Given the description of an element on the screen output the (x, y) to click on. 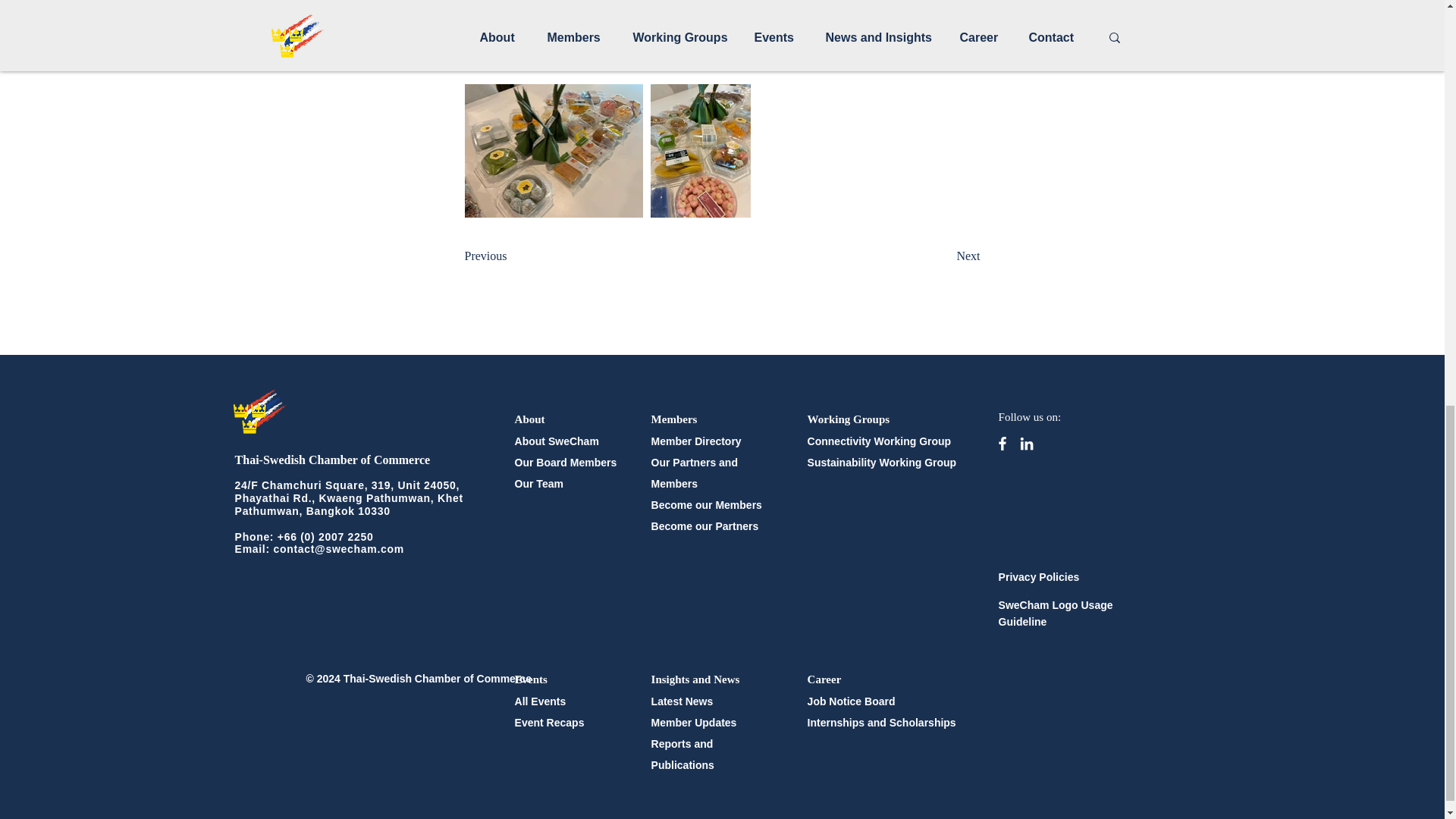
Our Board Members (566, 462)
cham.com (375, 548)
Our Team (539, 483)
Our Partners and Members (694, 472)
About SweCham (556, 440)
Sustainability Working Group (882, 462)
Connectivity Working Group (880, 440)
Member Directory (695, 440)
Working Groups (848, 418)
Privacy Policies (1039, 576)
Become our Partners (704, 526)
Become our Members (705, 504)
SweCham Logo Usage Guideline (1055, 613)
Previous (514, 255)
Next (941, 255)
